Given the description of an element on the screen output the (x, y) to click on. 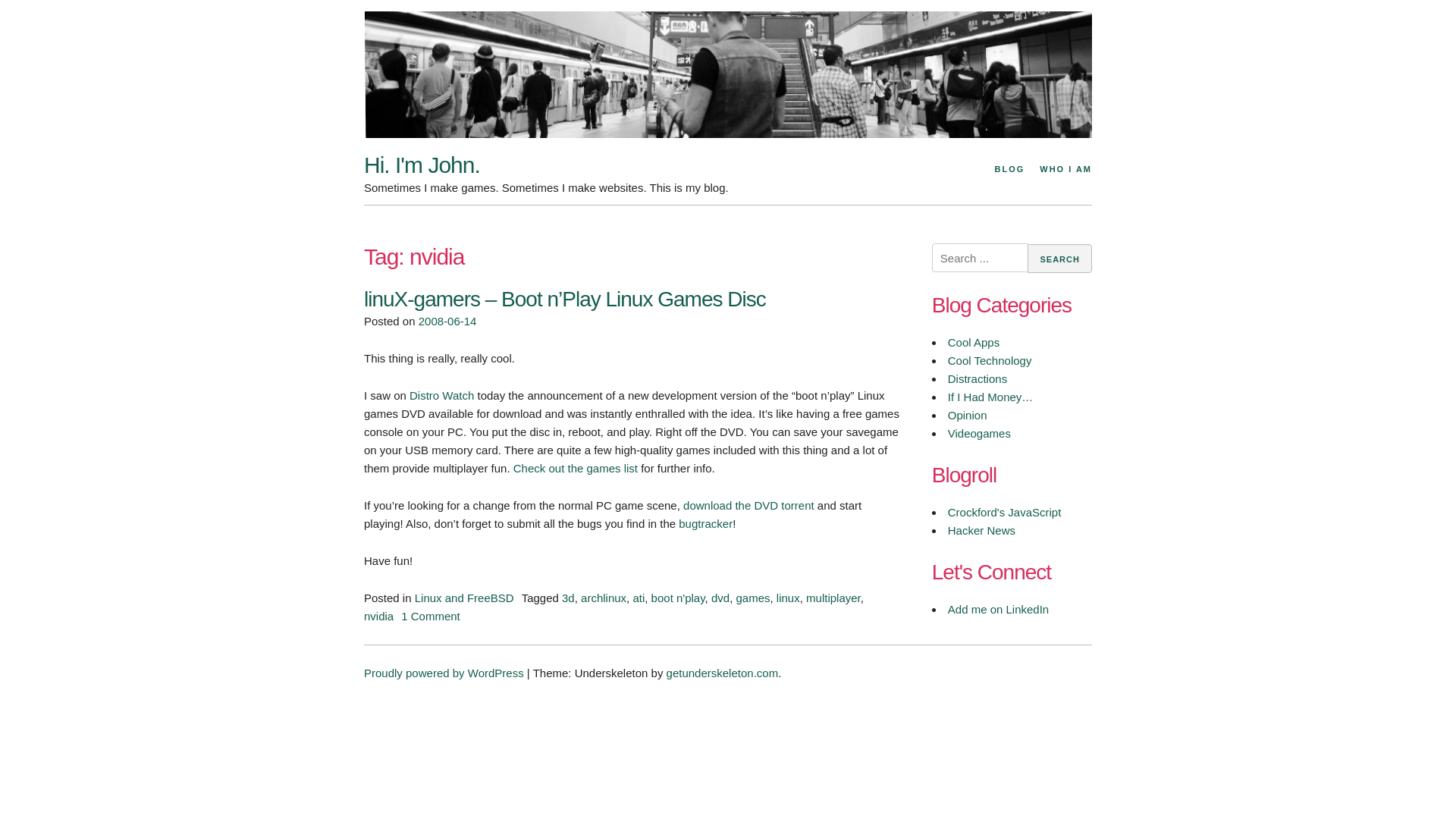
2008-06-14 (448, 320)
Add me on LinkedIn (997, 608)
Search (1058, 258)
Search (1058, 258)
BLOG (1008, 169)
ati (638, 597)
WHO I AM (1063, 169)
nvidia (378, 615)
games (752, 597)
bugtracker (705, 522)
